Given the description of an element on the screen output the (x, y) to click on. 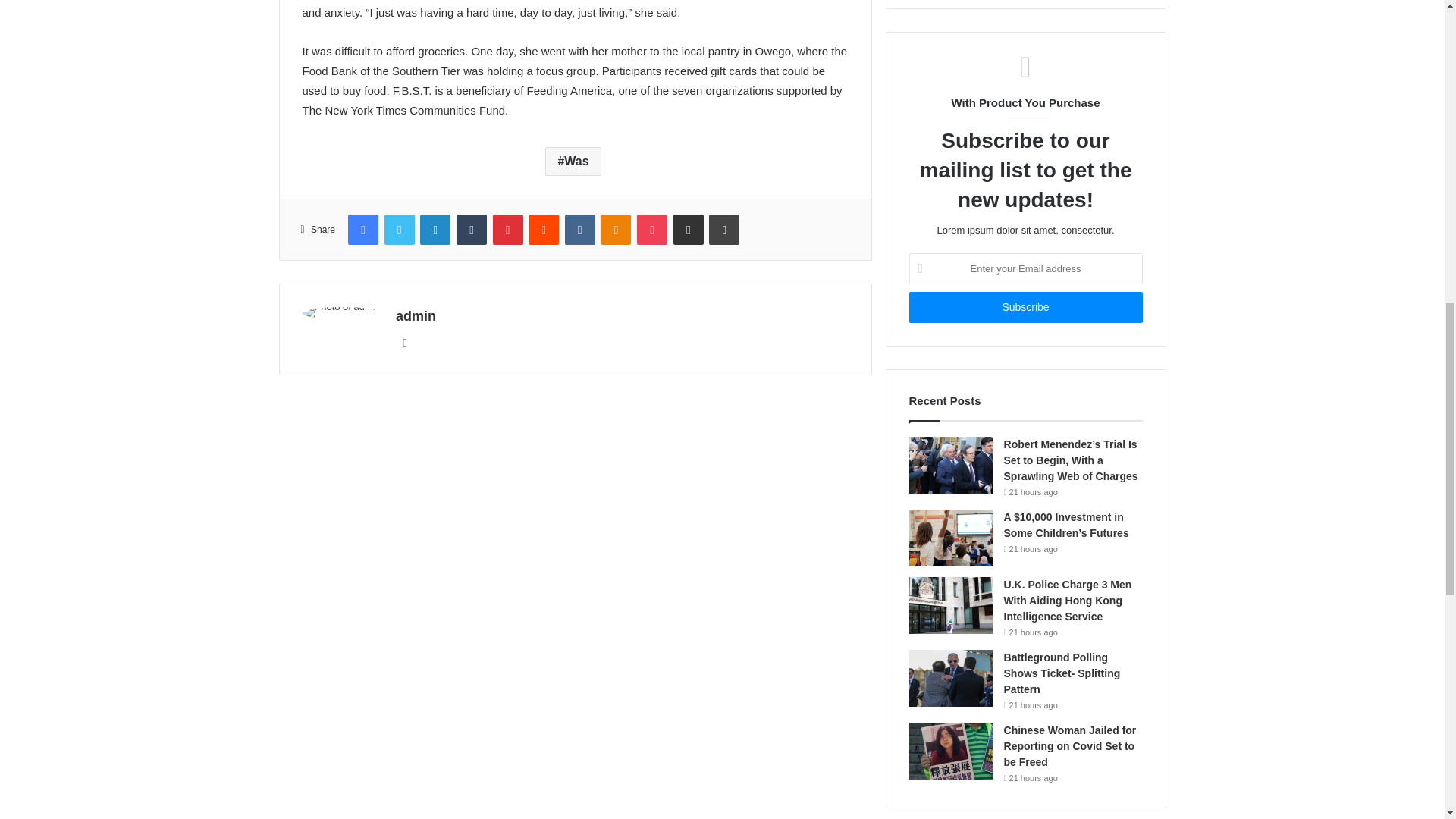
Twitter (399, 229)
LinkedIn (434, 229)
Reddit (543, 229)
Tumblr (471, 229)
Pinterest (507, 229)
Facebook (362, 229)
Was (571, 161)
Odnoklassniki (614, 229)
Subscribe (1025, 306)
VKontakte (579, 229)
